Given the description of an element on the screen output the (x, y) to click on. 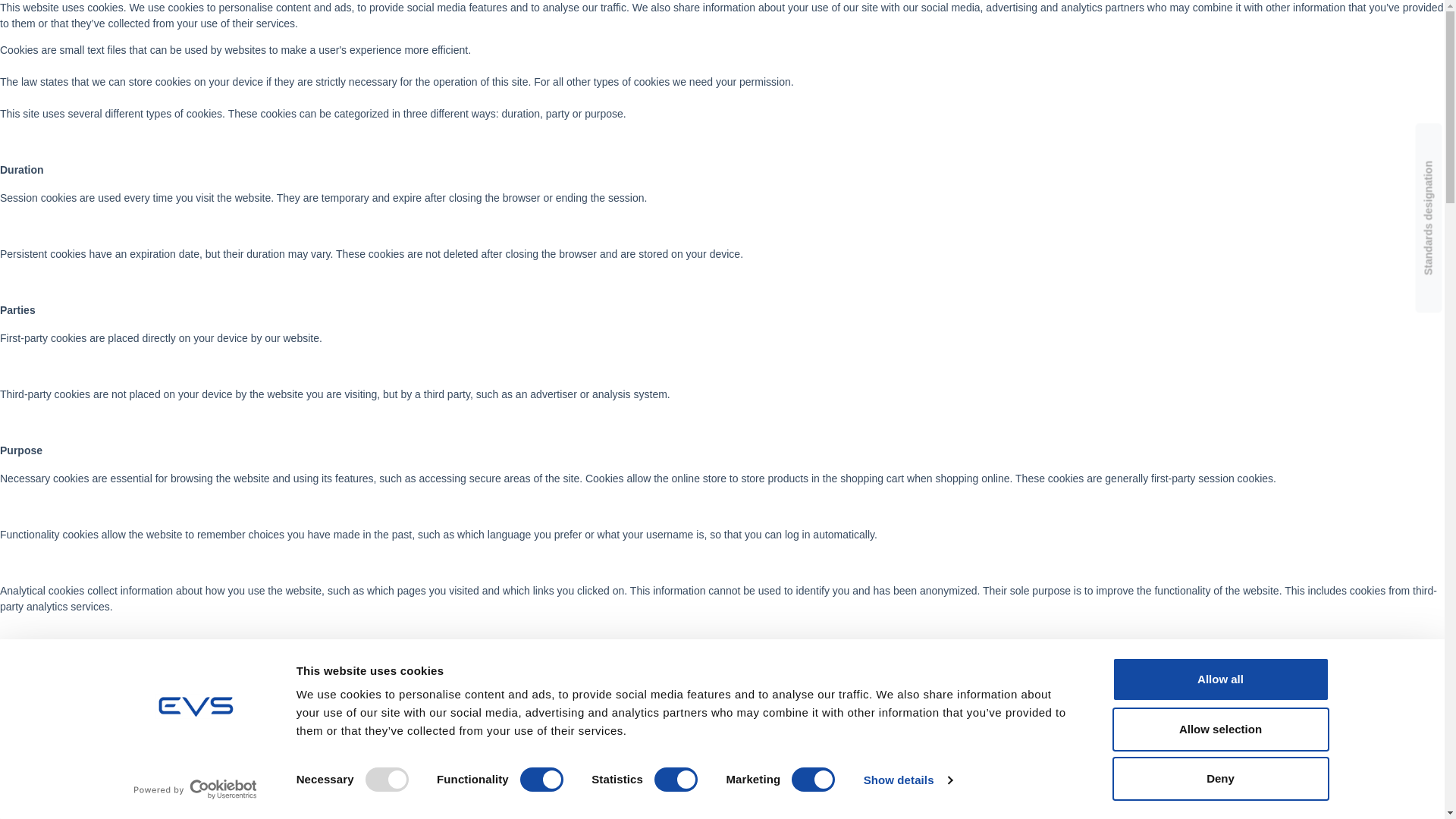
Deny (1219, 778)
Show details (907, 780)
Allow selection (1219, 728)
